Given the description of an element on the screen output the (x, y) to click on. 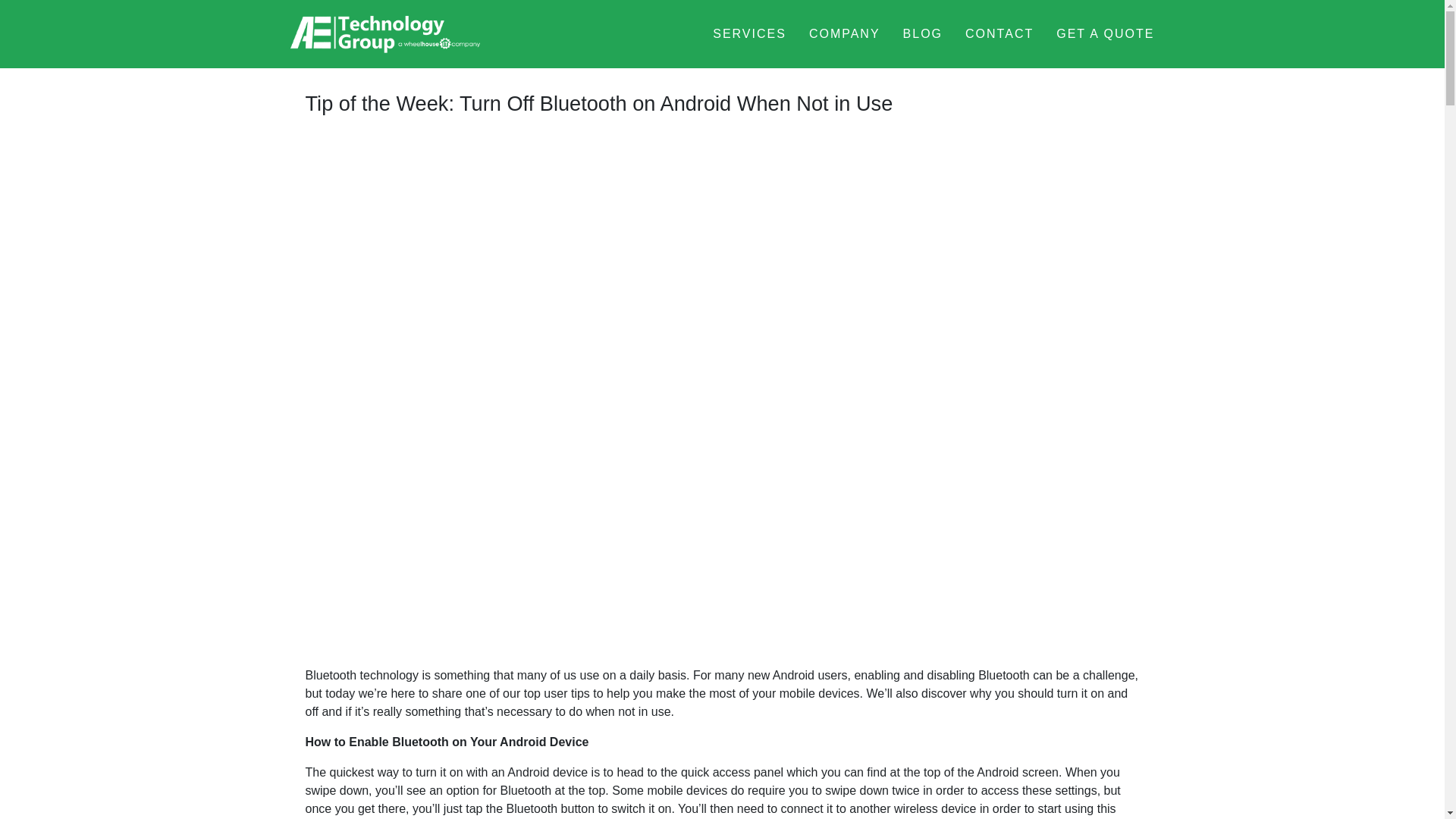
Get a Quote for IT Support in New York (1105, 33)
COMPANY (844, 33)
Contact Us for IT Support Near You (999, 33)
About AE Technology Group (844, 33)
GET A QUOTE (1105, 33)
CONTACT (999, 33)
IT Services on Long Island (749, 33)
BLOG (922, 33)
Tech Support Blog for New York Businesses (922, 33)
SERVICES (749, 33)
